Given the description of an element on the screen output the (x, y) to click on. 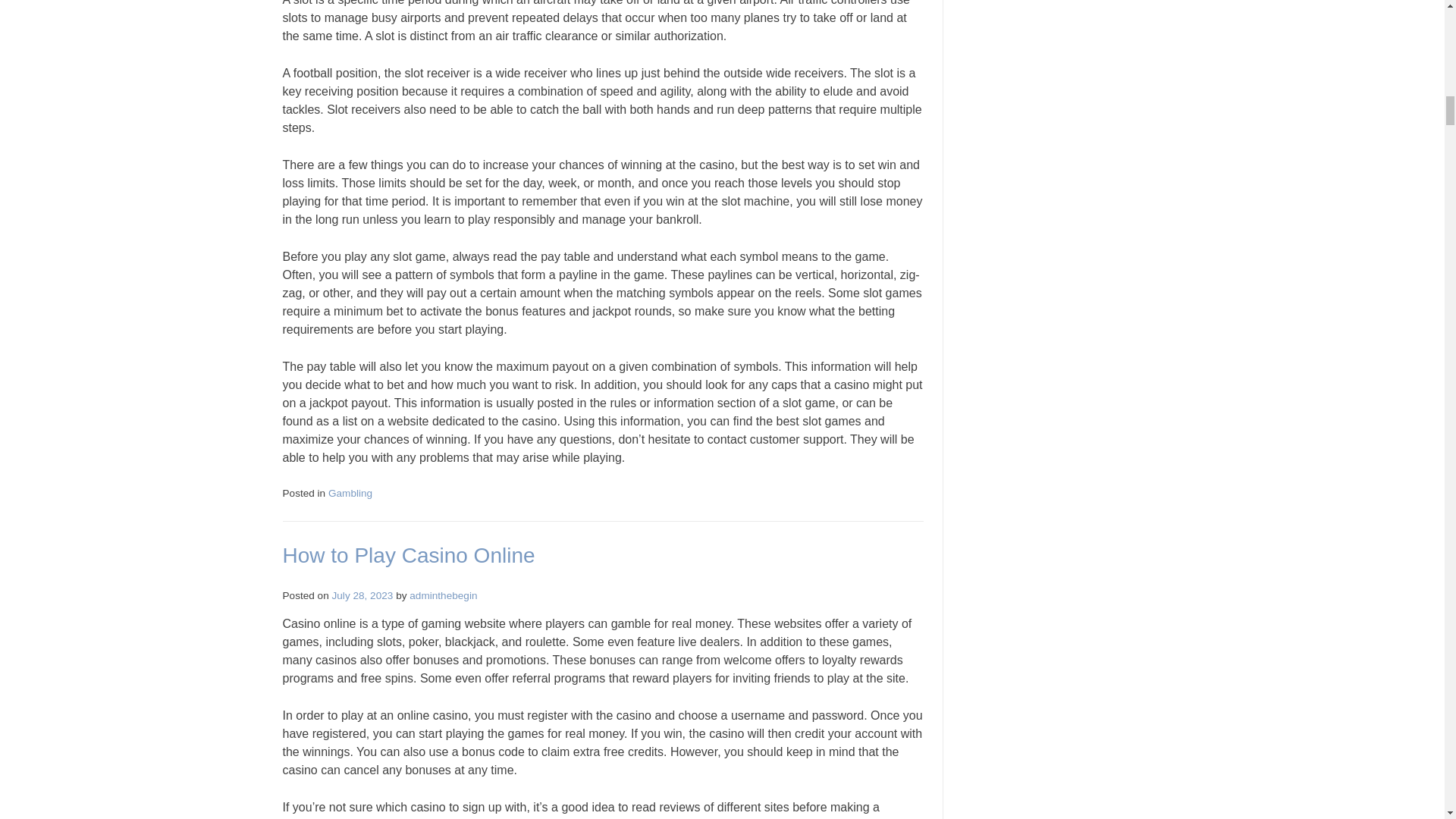
Gambling (350, 492)
adminthebegin (443, 595)
July 28, 2023 (362, 595)
How to Play Casino Online (408, 555)
